Given the description of an element on the screen output the (x, y) to click on. 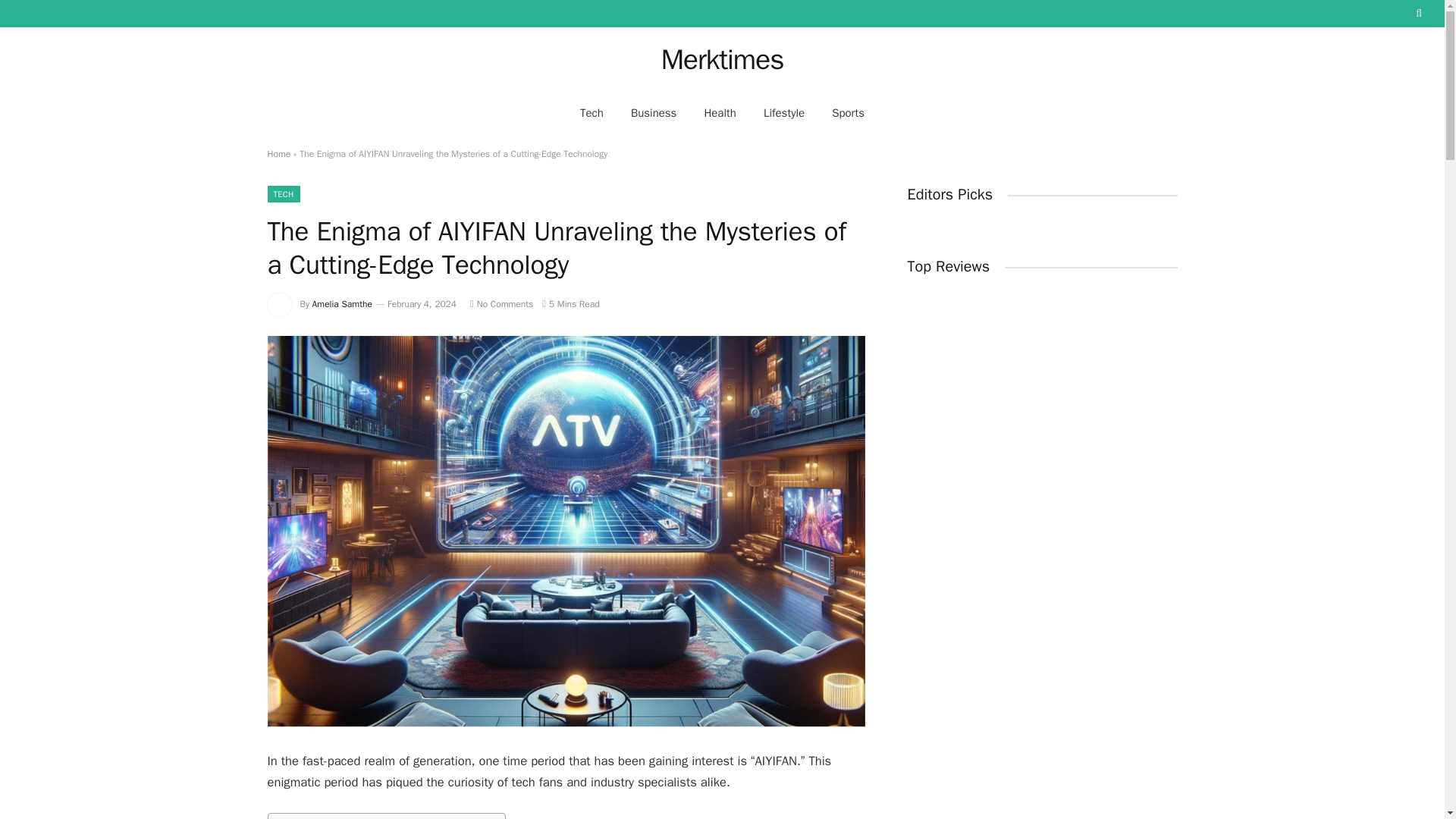
TECH (282, 193)
Tech (591, 112)
Posts by Amelia Samthe (342, 304)
Merktimes (722, 59)
Business (653, 112)
No Comments (501, 304)
Lifestyle (783, 112)
Home (277, 153)
Health (719, 112)
